Given the description of an element on the screen output the (x, y) to click on. 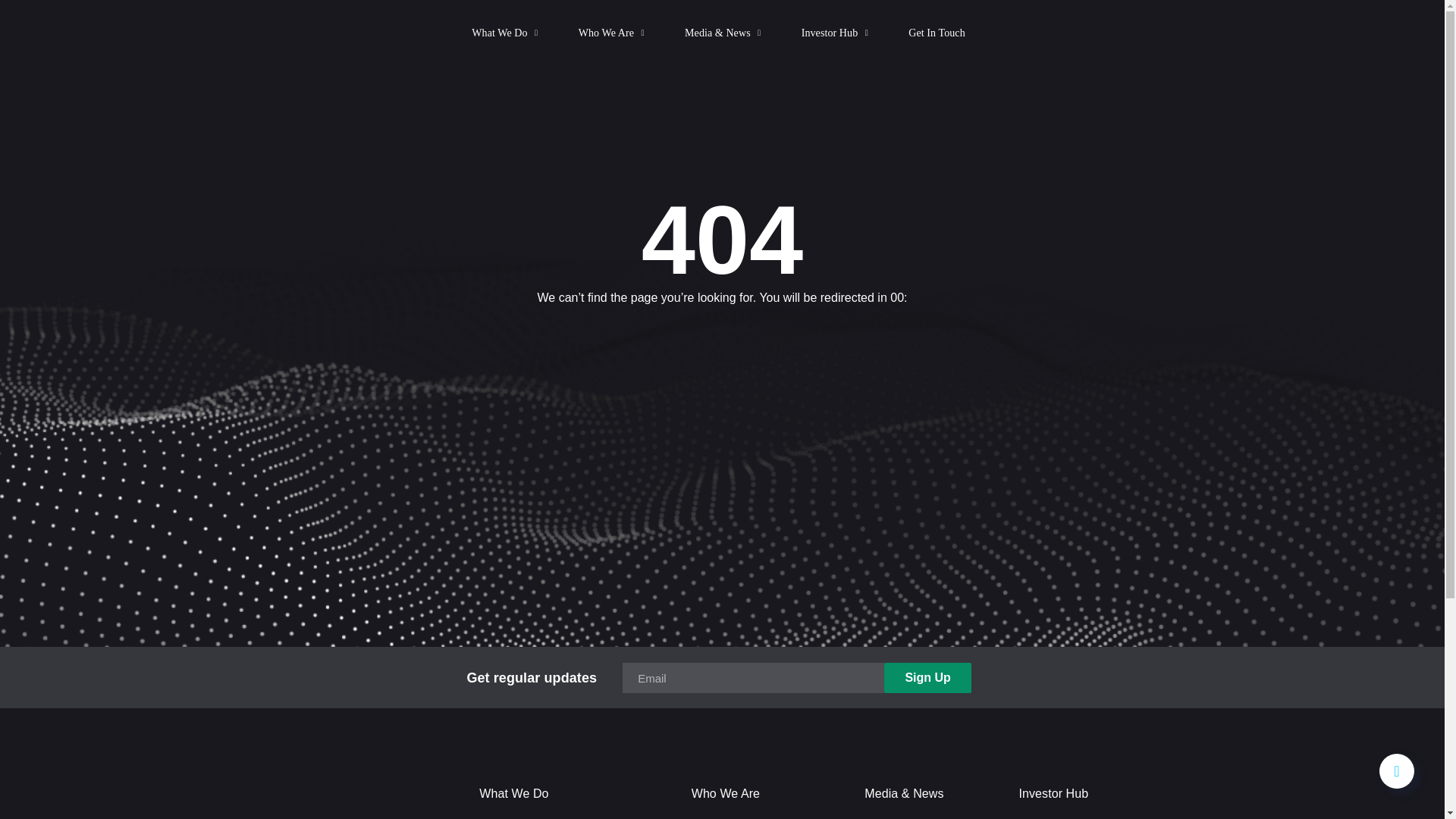
Get In Touch (936, 33)
What We Do (505, 33)
Investor Hub (836, 33)
Who We Are (612, 33)
